Given the description of an element on the screen output the (x, y) to click on. 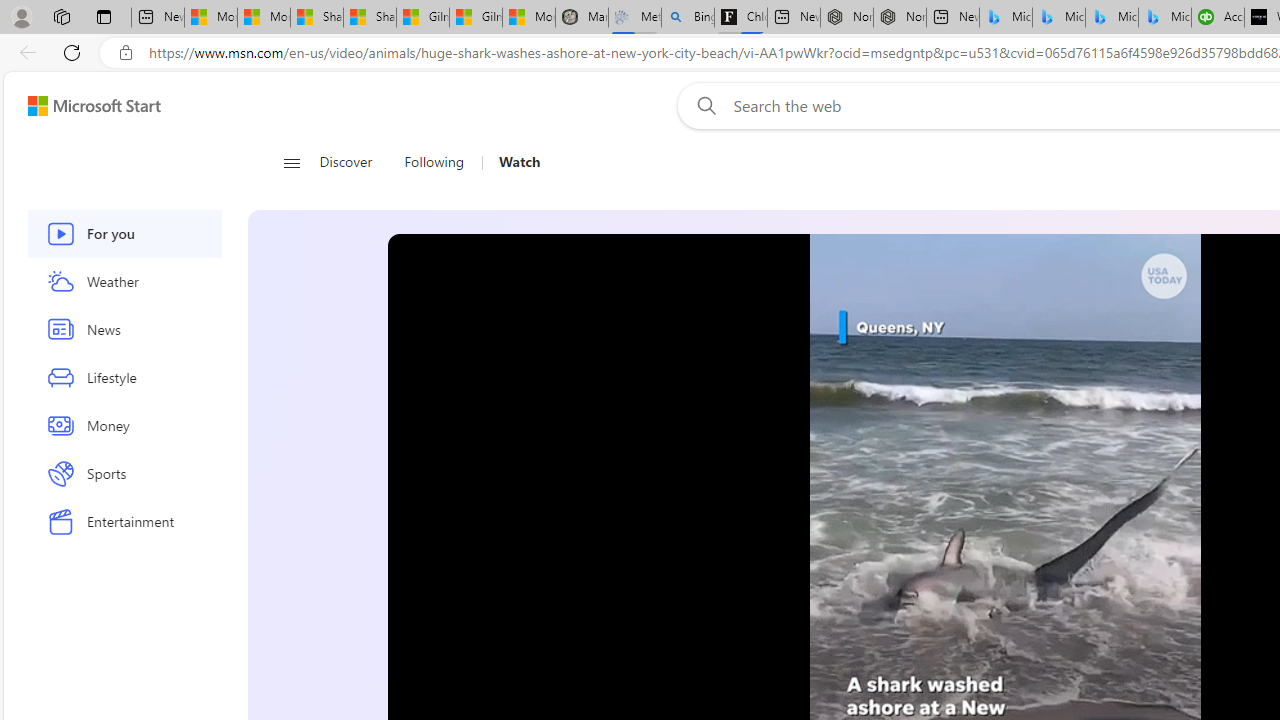
Microsoft Bing Travel - Stays in Bangkok, Bangkok, Thailand (1059, 17)
